Given the description of an element on the screen output the (x, y) to click on. 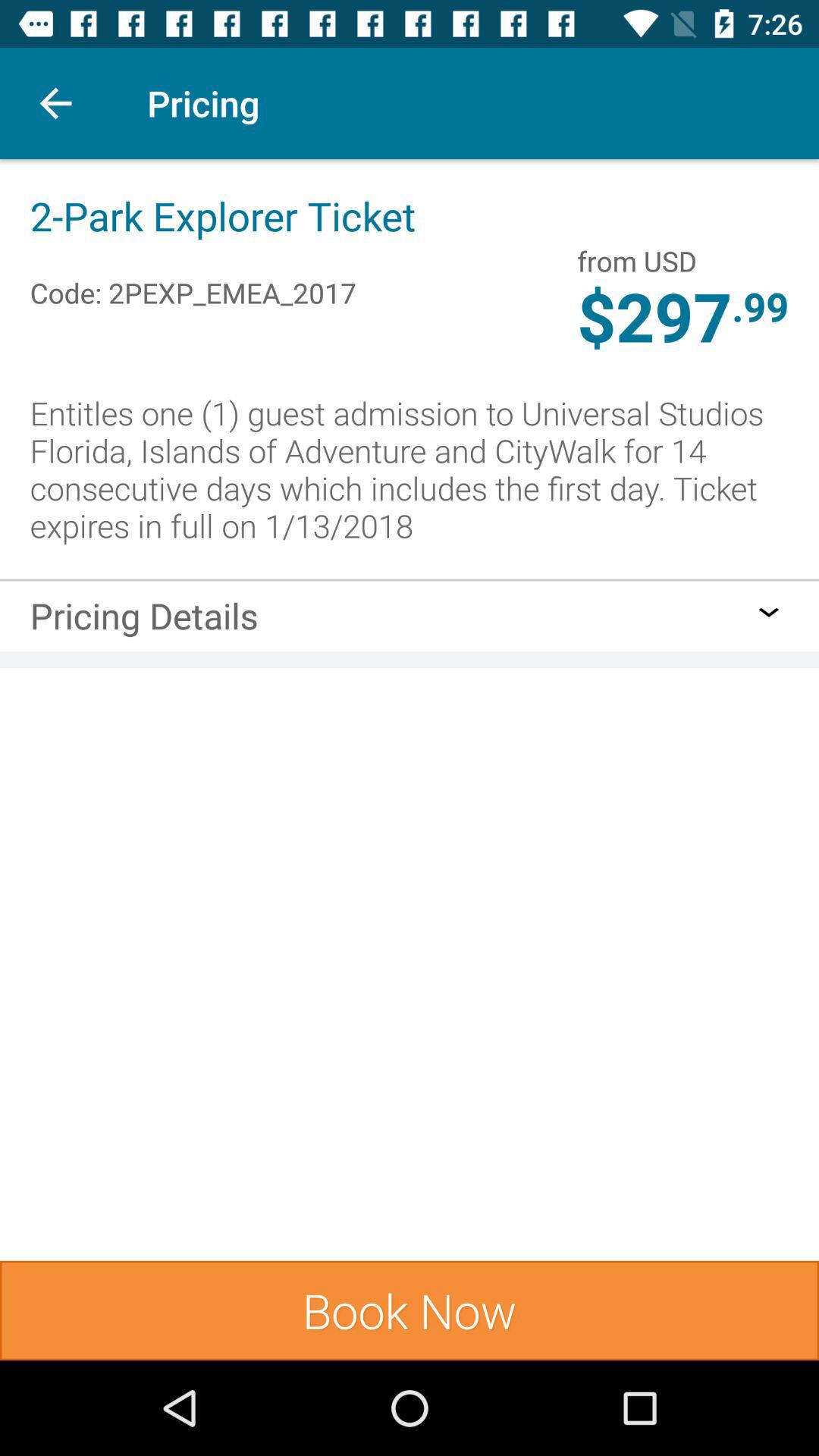
click item below 2 park explorer item (193, 276)
